Given the description of an element on the screen output the (x, y) to click on. 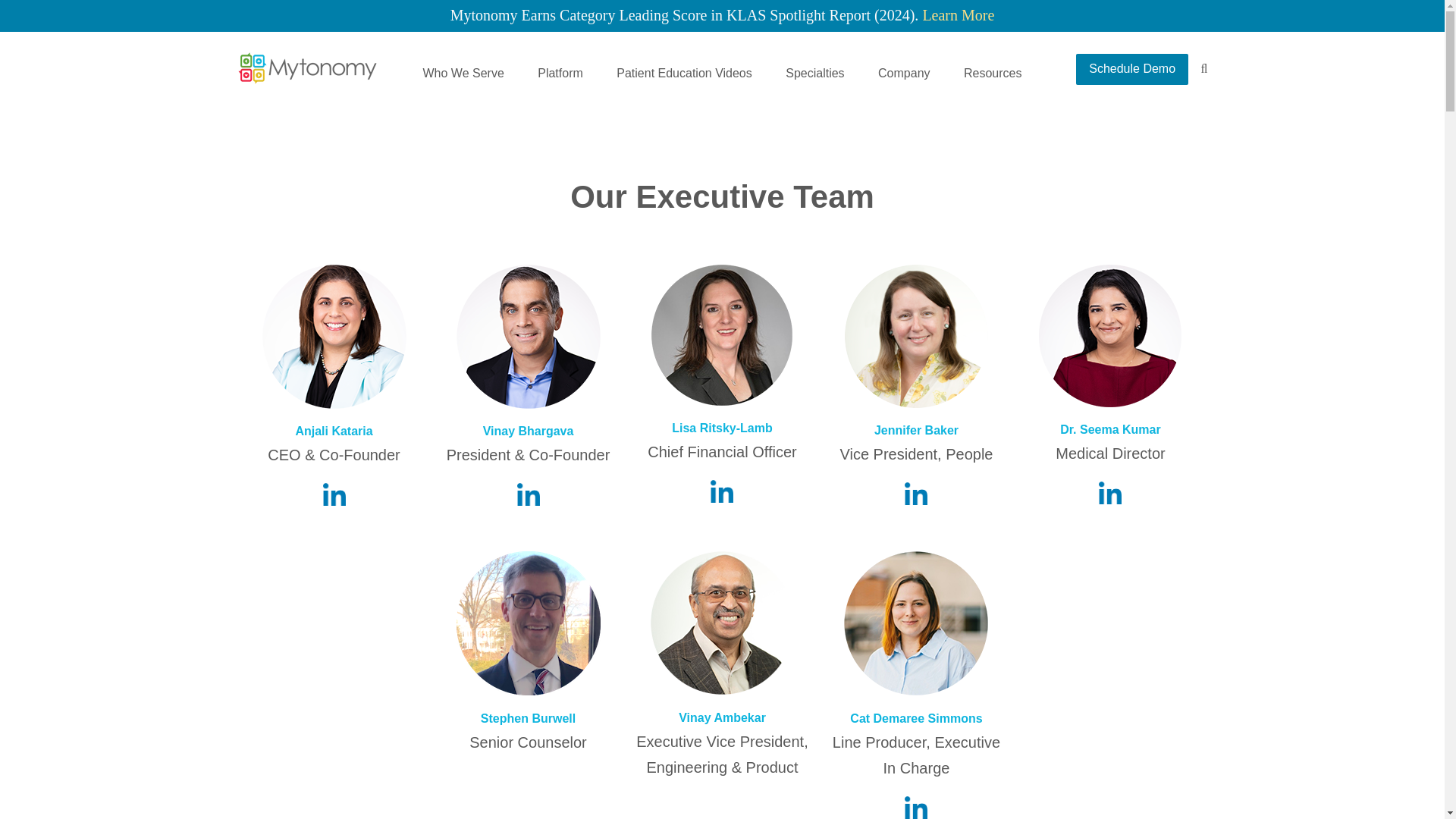
Learn More (957, 14)
Schedule Demo (1131, 69)
